Given the description of an element on the screen output the (x, y) to click on. 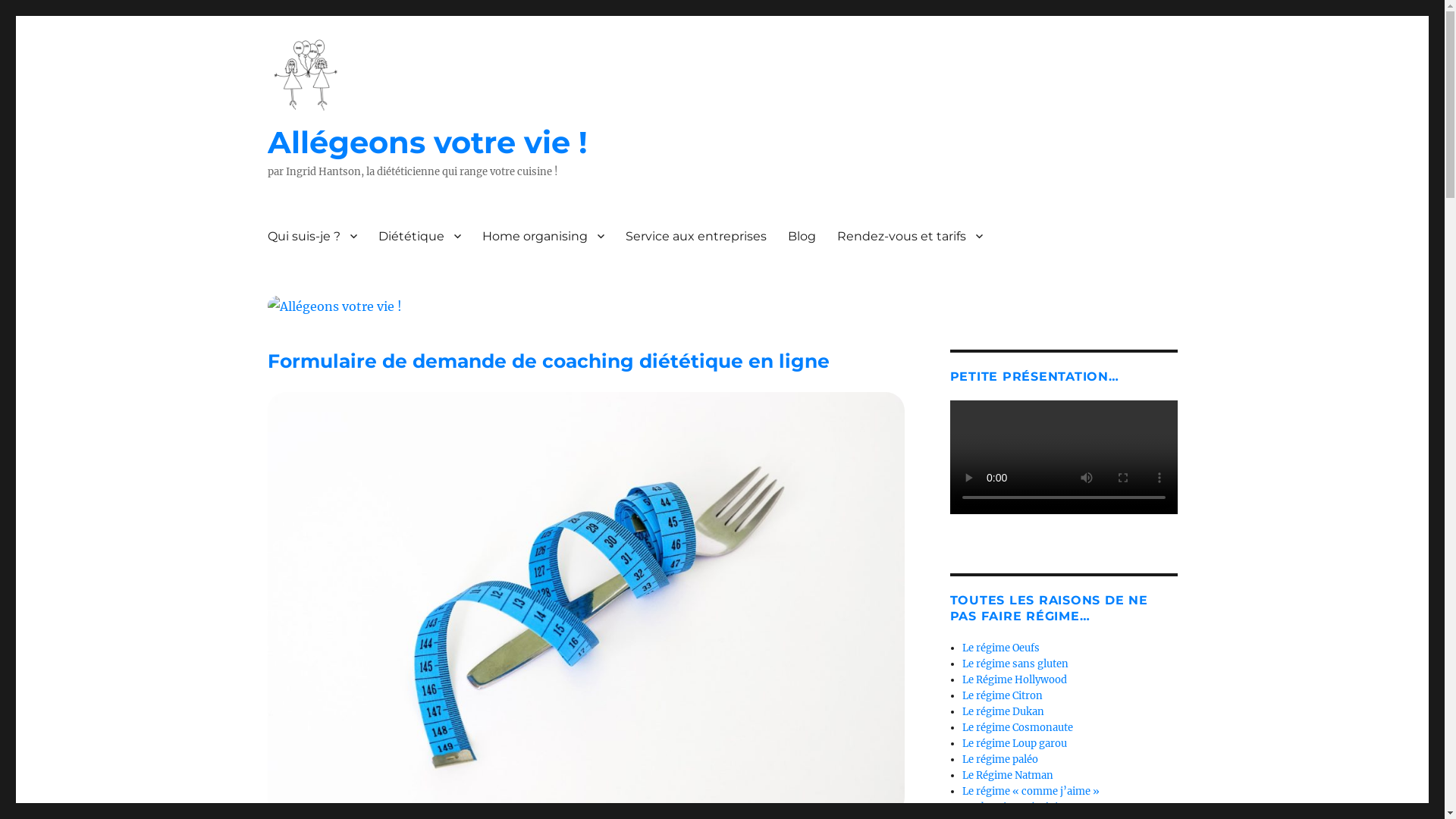
Home organising Element type: text (543, 235)
Service aux entreprises Element type: text (695, 235)
Qui suis-je ? Element type: text (311, 235)
Rendez-vous et tarifs Element type: text (909, 235)
Blog Element type: text (800, 235)
